Given the description of an element on the screen output the (x, y) to click on. 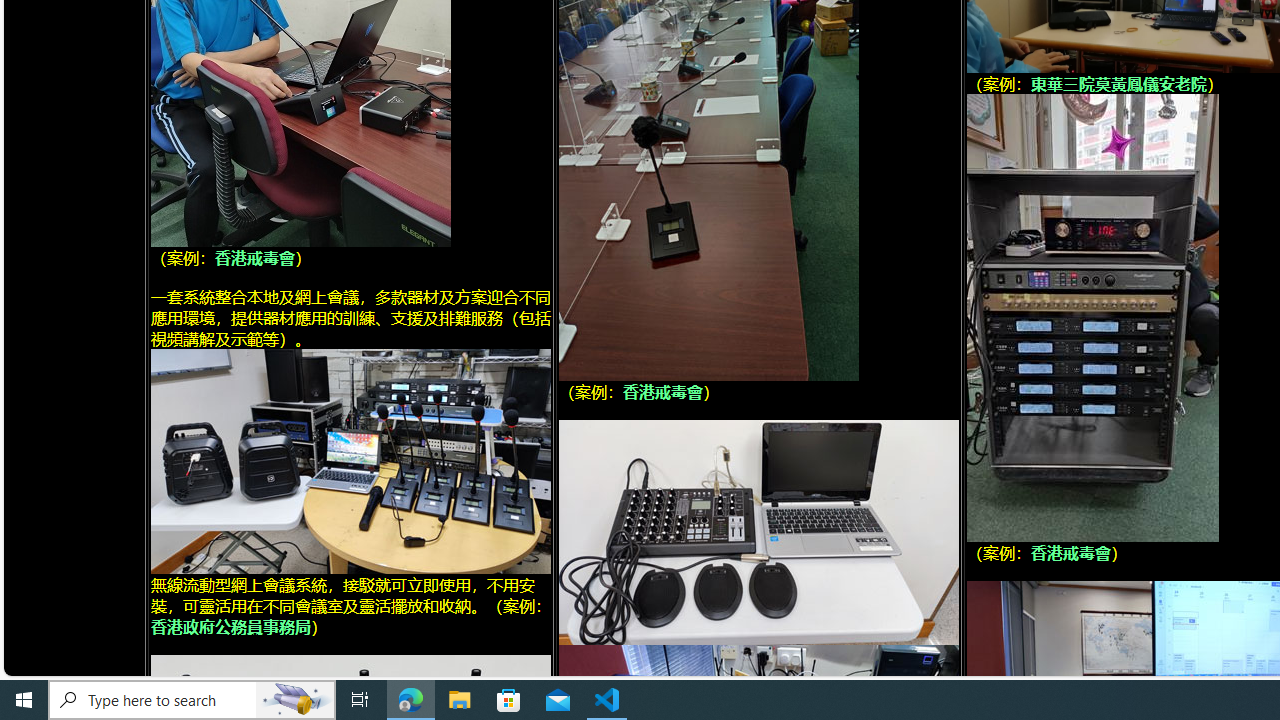
online meeting, zoom meeting, (350, 460)
zoom meeting (758, 532)
meeting equipment (1092, 317)
